Given the description of an element on the screen output the (x, y) to click on. 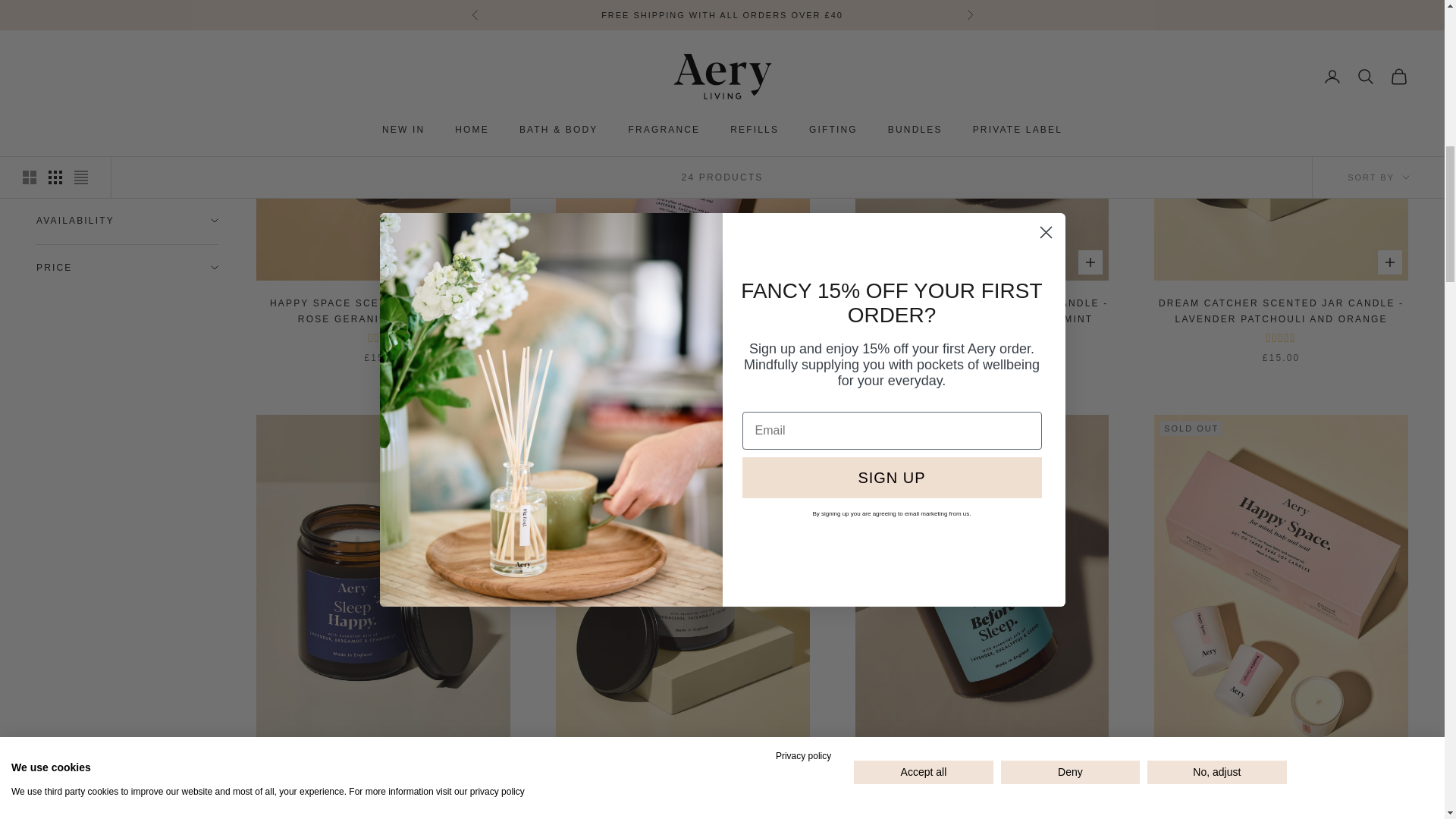
5 Stars - 4 Reviews (382, 338)
5 Stars - 6 Reviews (682, 338)
5 Star - 1 Review (1280, 338)
5 Stars - 8 Reviews (980, 338)
